Given the description of an element on the screen output the (x, y) to click on. 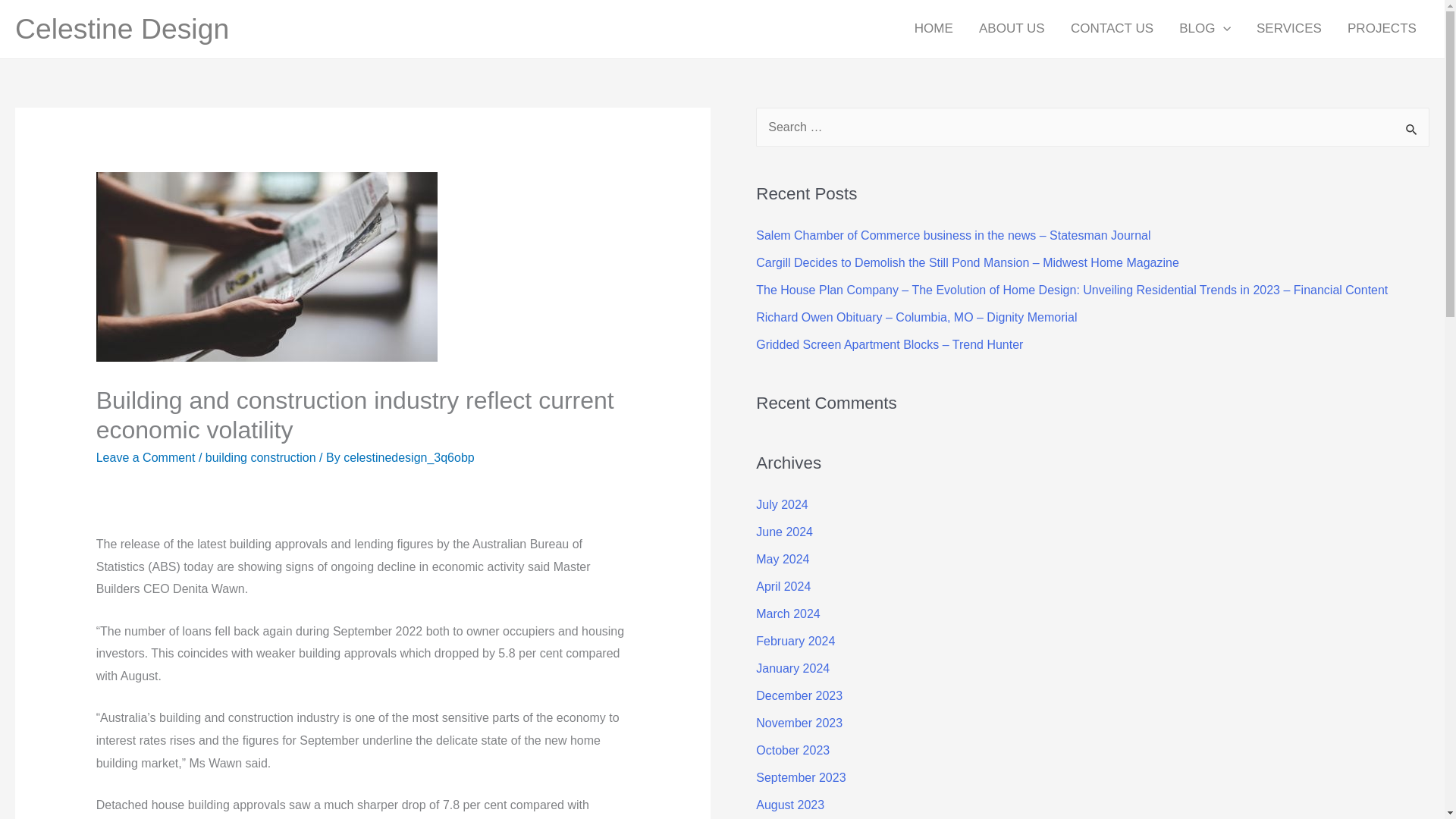
building construction (260, 457)
BLOG (1204, 28)
SERVICES (1289, 28)
Leave a Comment (145, 457)
Celestine Design (121, 29)
HOME (933, 28)
ABOUT US (1012, 28)
CONTACT US (1112, 28)
PROJECTS (1382, 28)
